Given the description of an element on the screen output the (x, y) to click on. 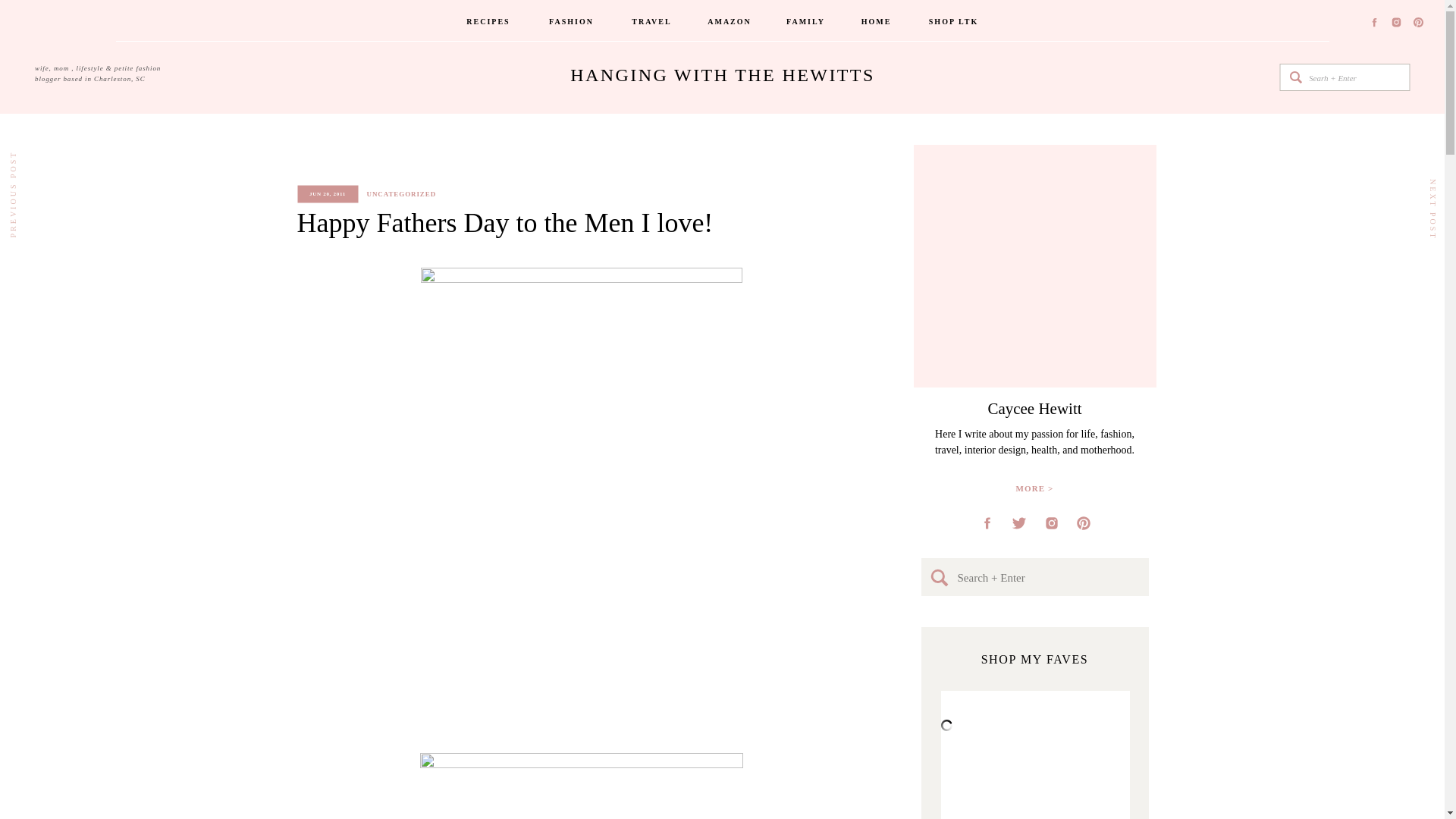
HANGING WITH THE HEWITTS (722, 76)
AMAZON (729, 23)
TRAVEL (650, 23)
FAMILY (806, 23)
HOME (876, 23)
FASHION (571, 23)
UNCATEGORIZED (401, 194)
RECIPES (488, 23)
SHOP LTK (953, 23)
